Given the description of an element on the screen output the (x, y) to click on. 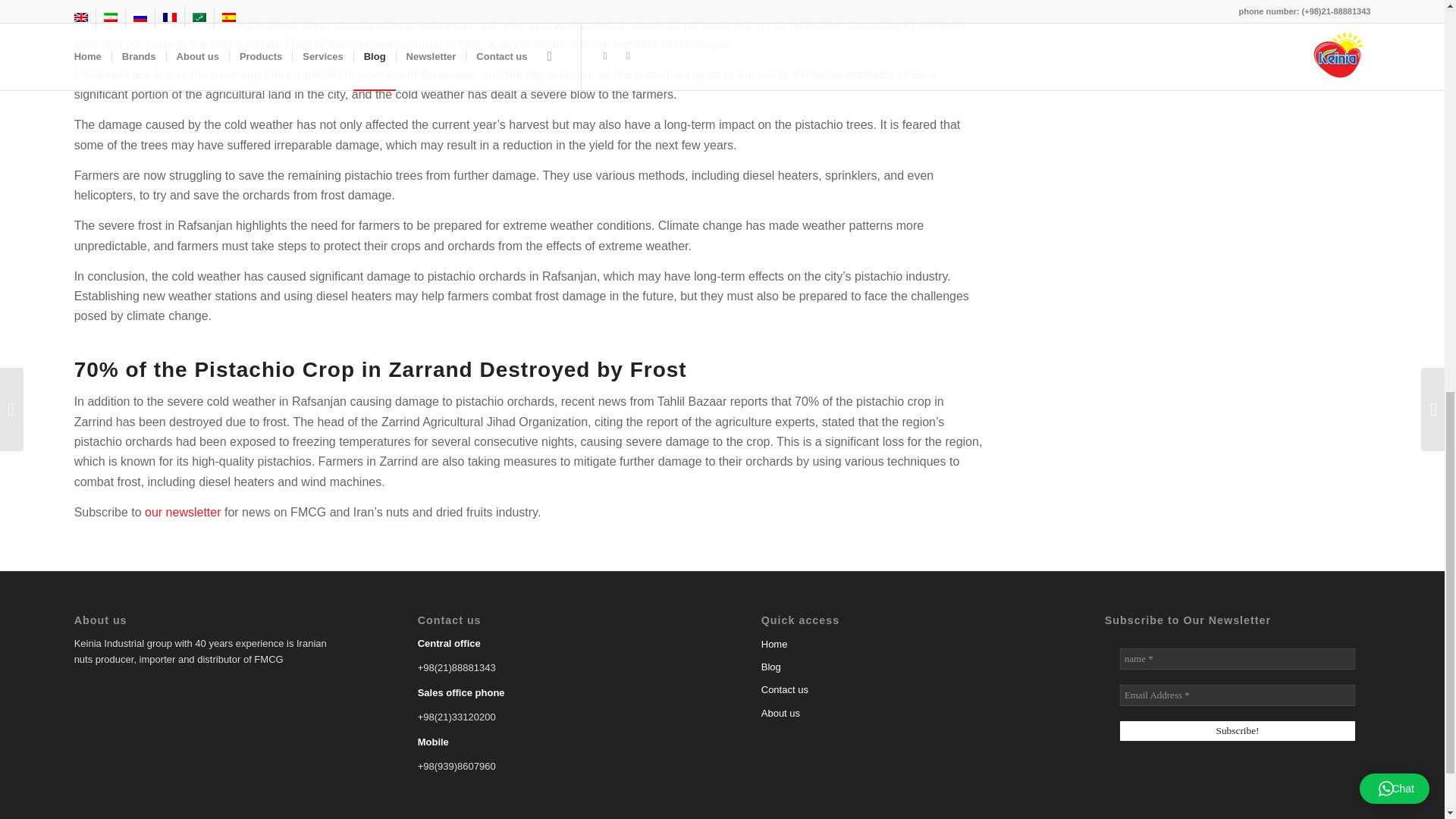
Subscribe! (1237, 731)
name (1237, 658)
Email Address (1237, 694)
our newsletter (182, 512)
